Given the description of an element on the screen output the (x, y) to click on. 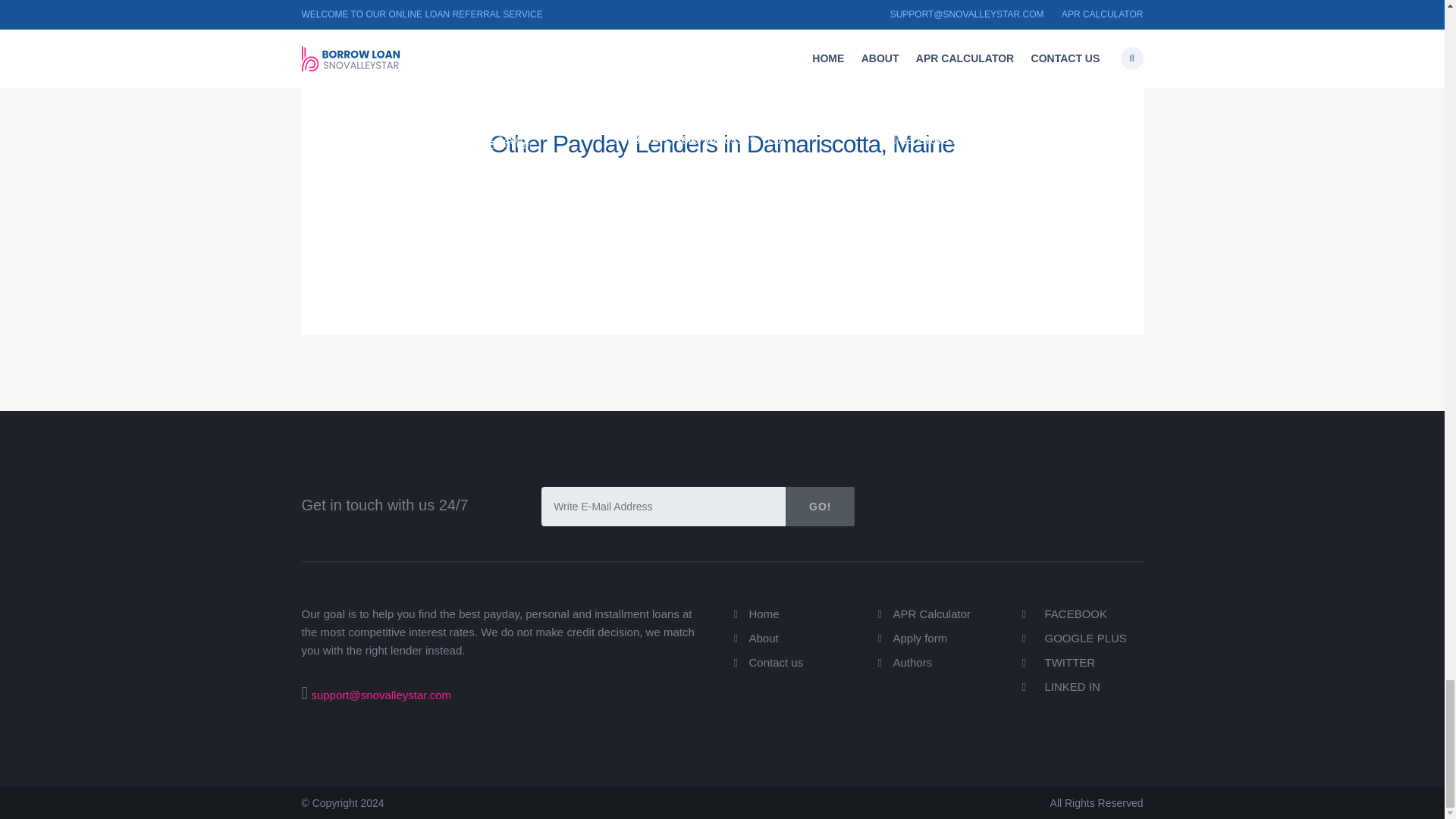
MySunny.loan (380, 112)
Home (763, 613)
Citizens Bank ATM (675, 135)
TD Bank (923, 135)
TD Bank Administrative Offices (437, 158)
GO! (820, 506)
Contact us (776, 662)
Maine State Credit Union (977, 112)
About (763, 637)
Money Concepts (950, 158)
Five County Credit Union (697, 158)
